Given the description of an element on the screen output the (x, y) to click on. 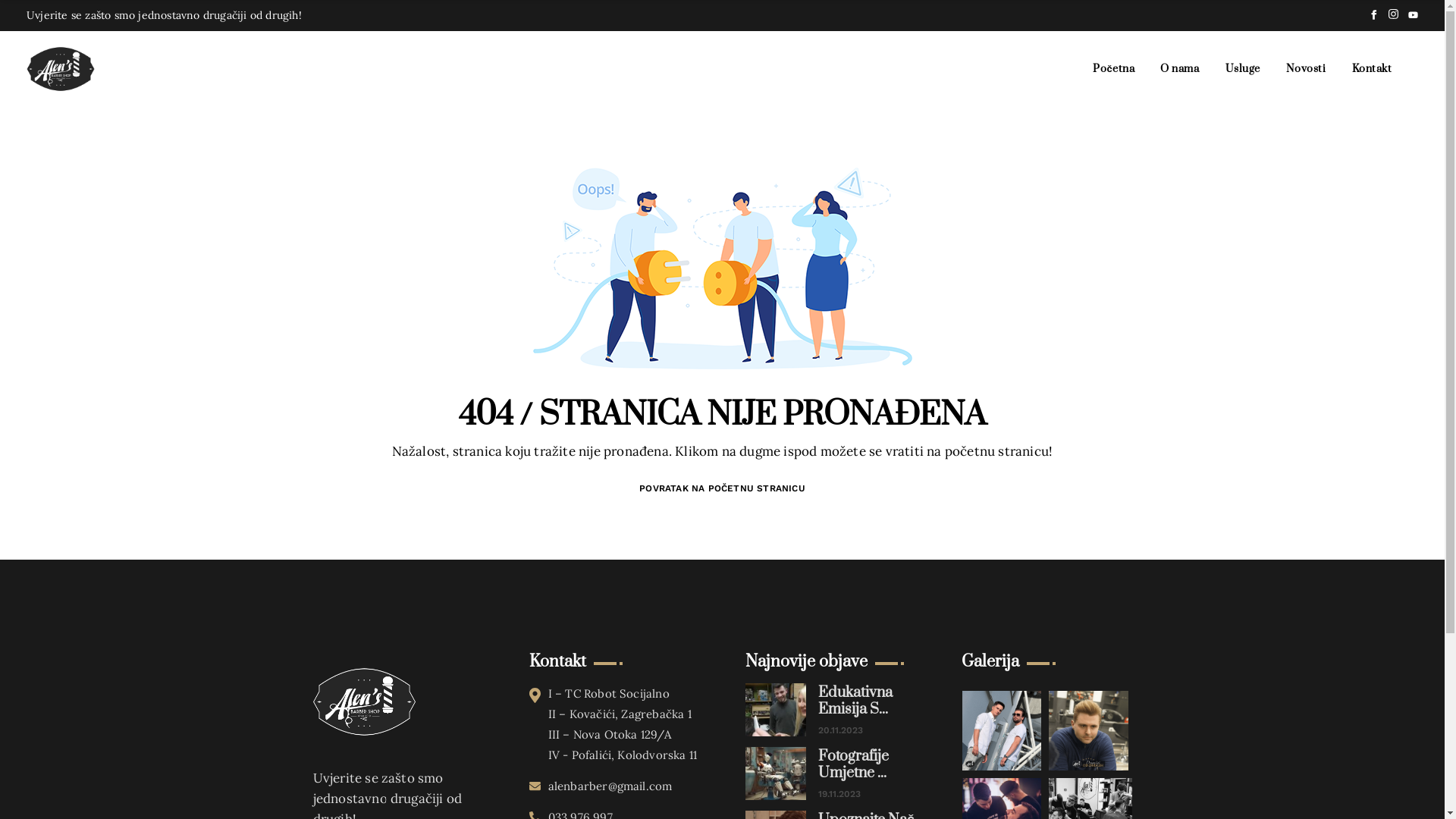
Novosti Element type: text (1305, 68)
Fotografije Umjetne ... Element type: text (866, 764)
Usluge Element type: text (1242, 68)
O nama Element type: text (1179, 68)
Edukativna Emisija S... Element type: text (866, 701)
Kontakt Element type: text (1371, 68)
